Given the description of an element on the screen output the (x, y) to click on. 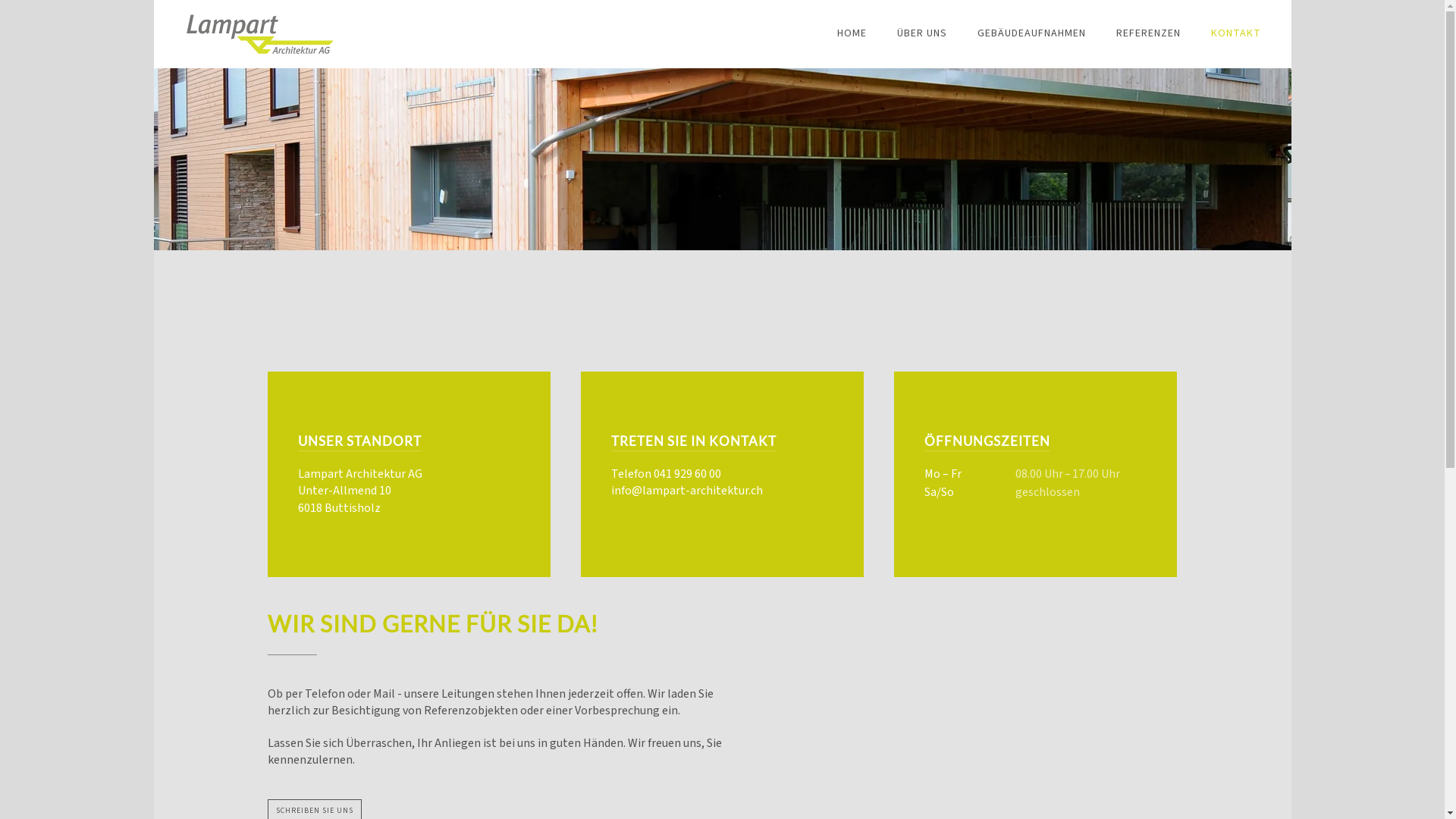
KONTAKT Element type: text (1235, 34)
HOME Element type: text (851, 34)
REFERENZEN Element type: text (1148, 34)
info@lampart-architektur.ch Element type: text (686, 490)
